Given the description of an element on the screen output the (x, y) to click on. 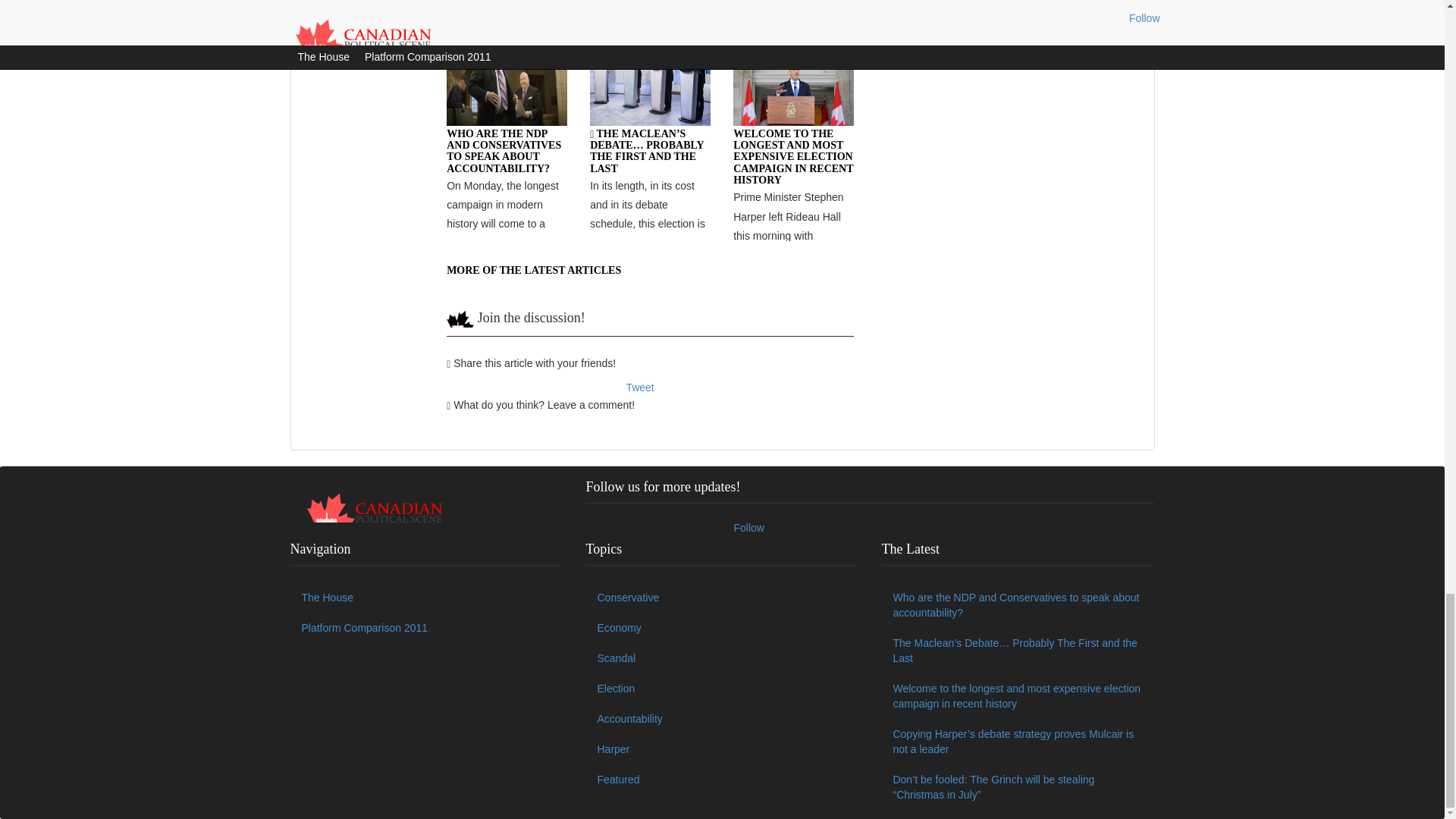
The Latest (505, 0)
Tweet (639, 387)
MORE OF THE LATEST ARTICLES (533, 270)
